Given the description of an element on the screen output the (x, y) to click on. 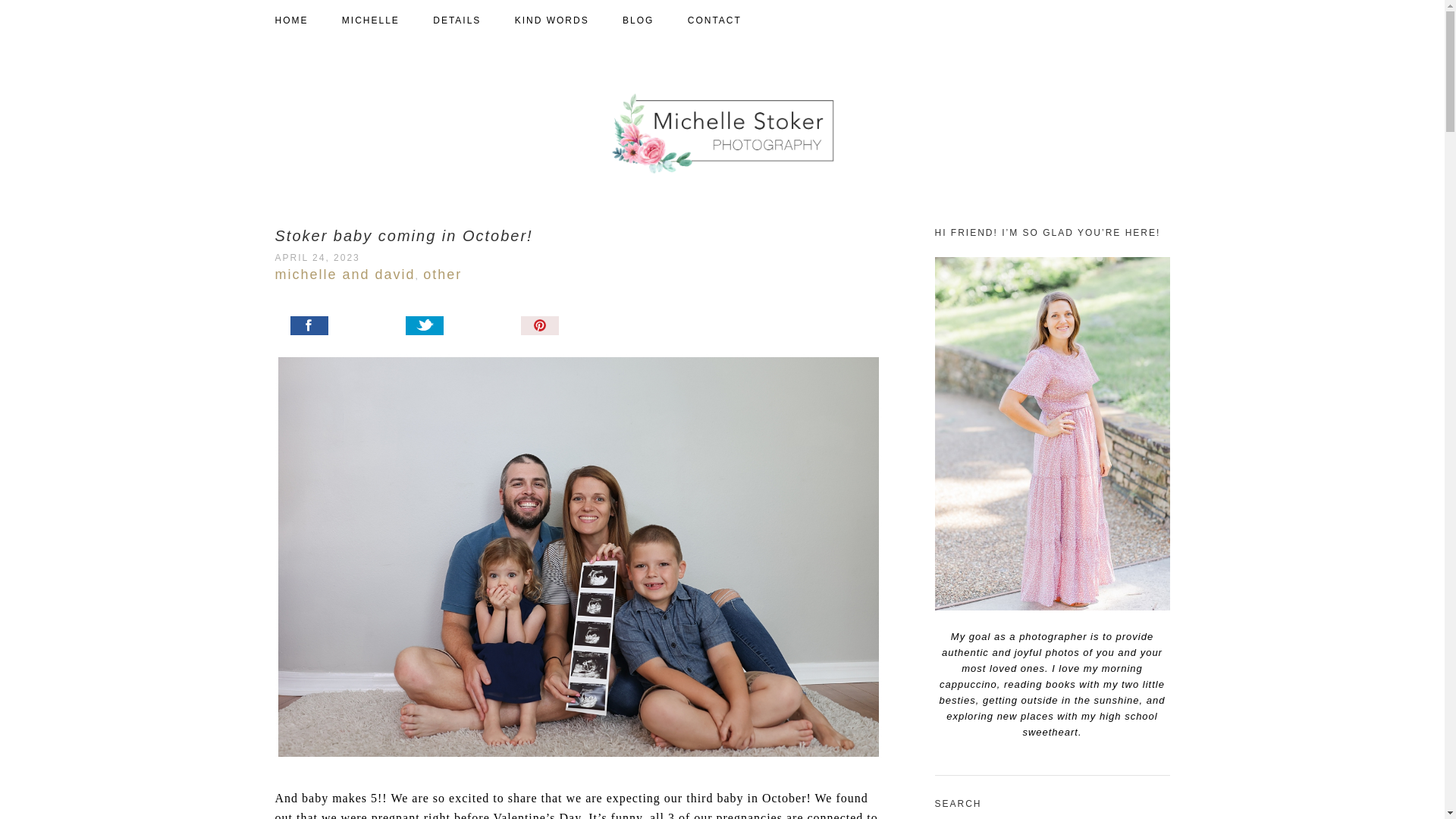
Share on Twitter. (461, 327)
michelle and david (344, 273)
KIND WORDS (567, 20)
MICHELLE (385, 20)
HOME (306, 20)
BLOG (653, 20)
Pin It! (576, 327)
CONTACT (729, 20)
DETAILS (471, 20)
Michelle Stoker Photography (722, 133)
